Given the description of an element on the screen output the (x, y) to click on. 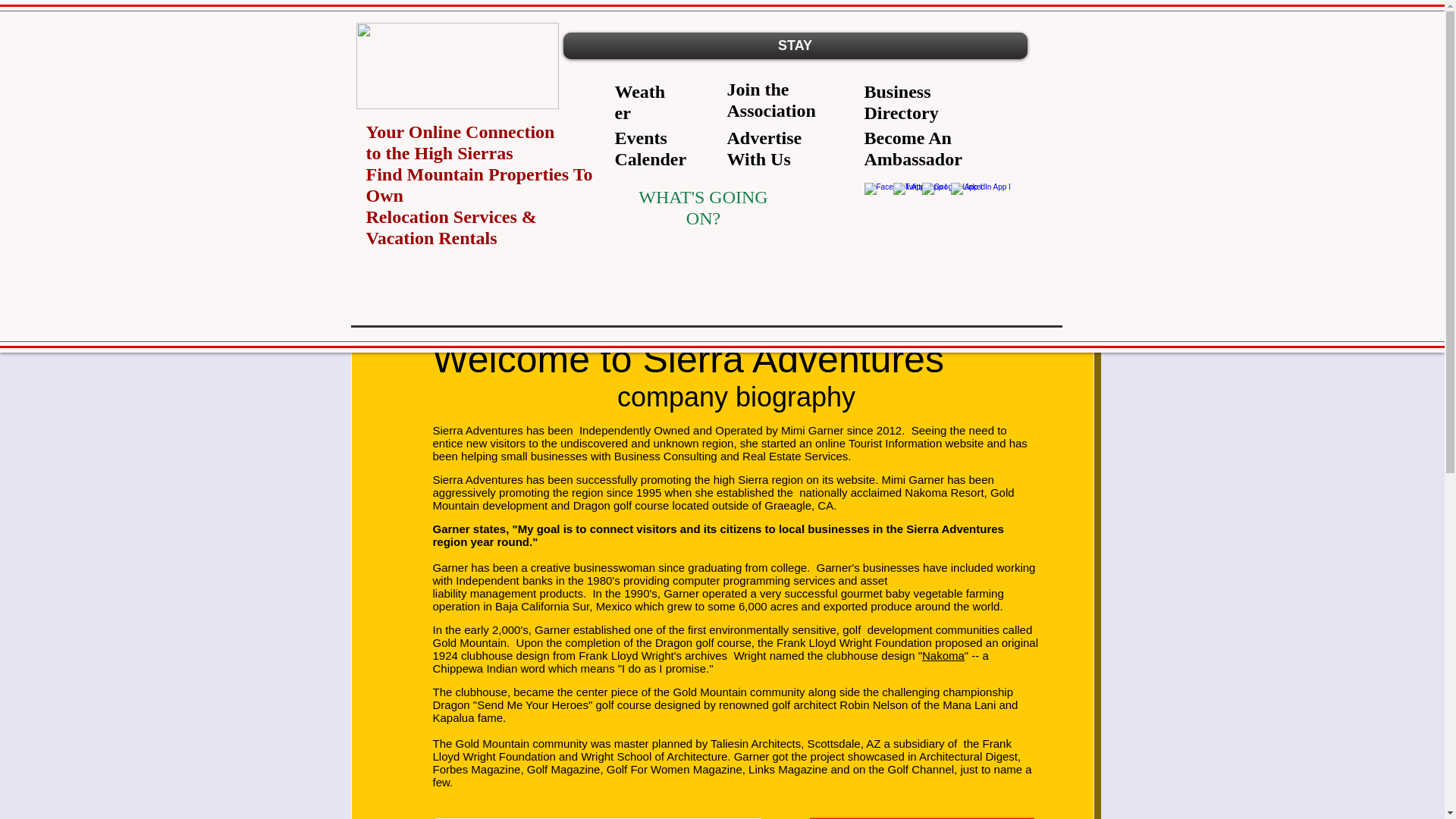
Advertise With Us (764, 147)
Join the Association  (772, 99)
STAY (794, 45)
Events Calender (649, 147)
Weather (639, 101)
Business Directory (901, 101)
Become An Ambassador (913, 147)
WHAT'S GOING ON? (703, 207)
Nakoma (942, 655)
